Given the description of an element on the screen output the (x, y) to click on. 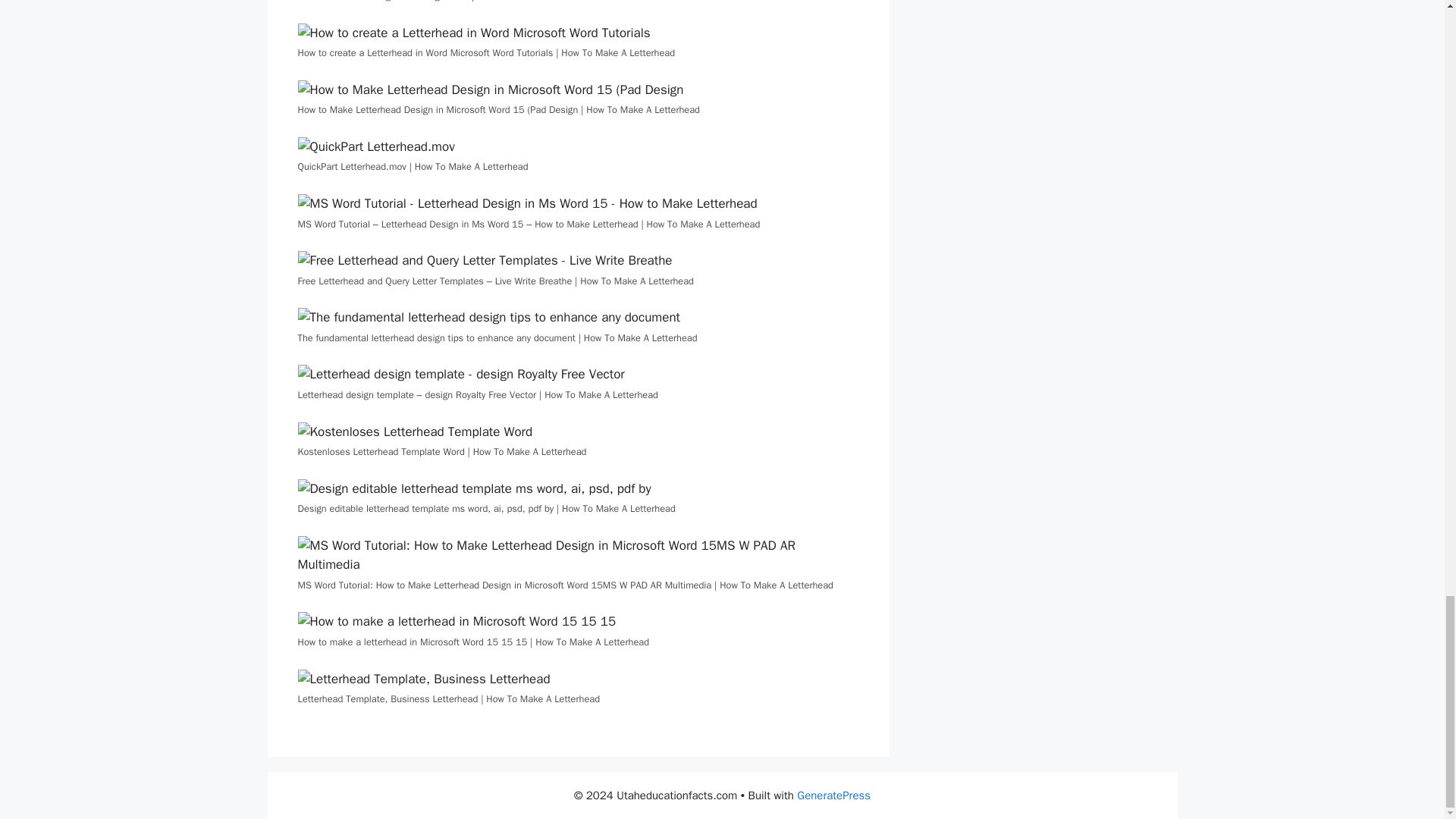
GeneratePress (833, 795)
Letterhead design template - design Royalty Free Vector (460, 374)
QuickPart Letterhead.mov (375, 147)
Kostenloses Letterhead Template Word (414, 432)
Design editable letterhead template ms word, ai, psd, pdf by (473, 488)
How to create a Letterhead in Word  Microsoft Word Tutorials (473, 33)
